Given the description of an element on the screen output the (x, y) to click on. 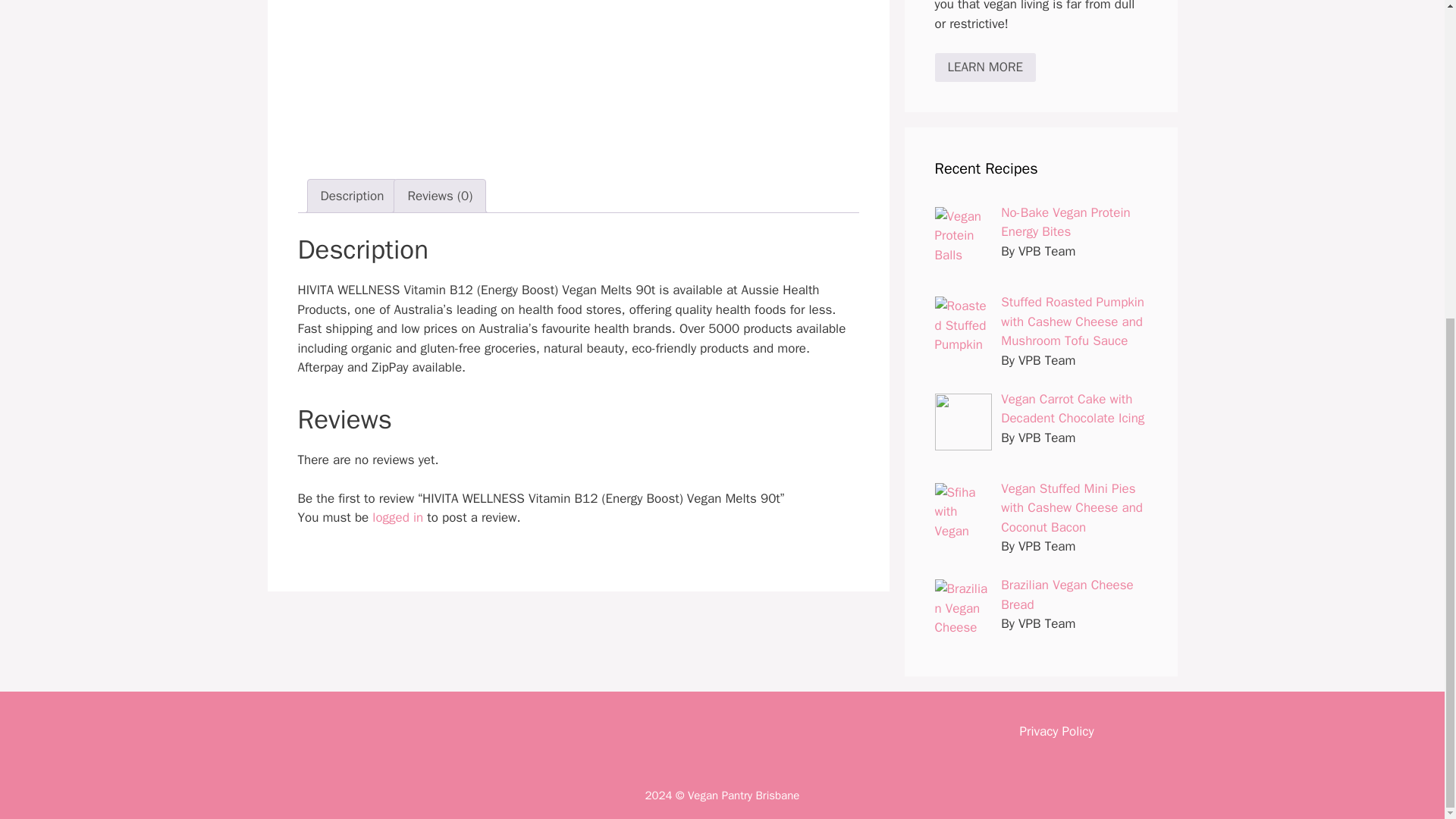
Vegan Carrot Cake with Decadent Chocolate Icing (1072, 408)
logged in (397, 517)
Privacy Policy (1056, 731)
LEARN MORE (984, 67)
Description (352, 195)
No-Bake Vegan Protein Energy Bites (1065, 222)
Brazilian Vegan Cheese Bread (1067, 594)
Vegan Stuffed Mini Pies with Cashew Cheese and Coconut Bacon (1071, 507)
